Given the description of an element on the screen output the (x, y) to click on. 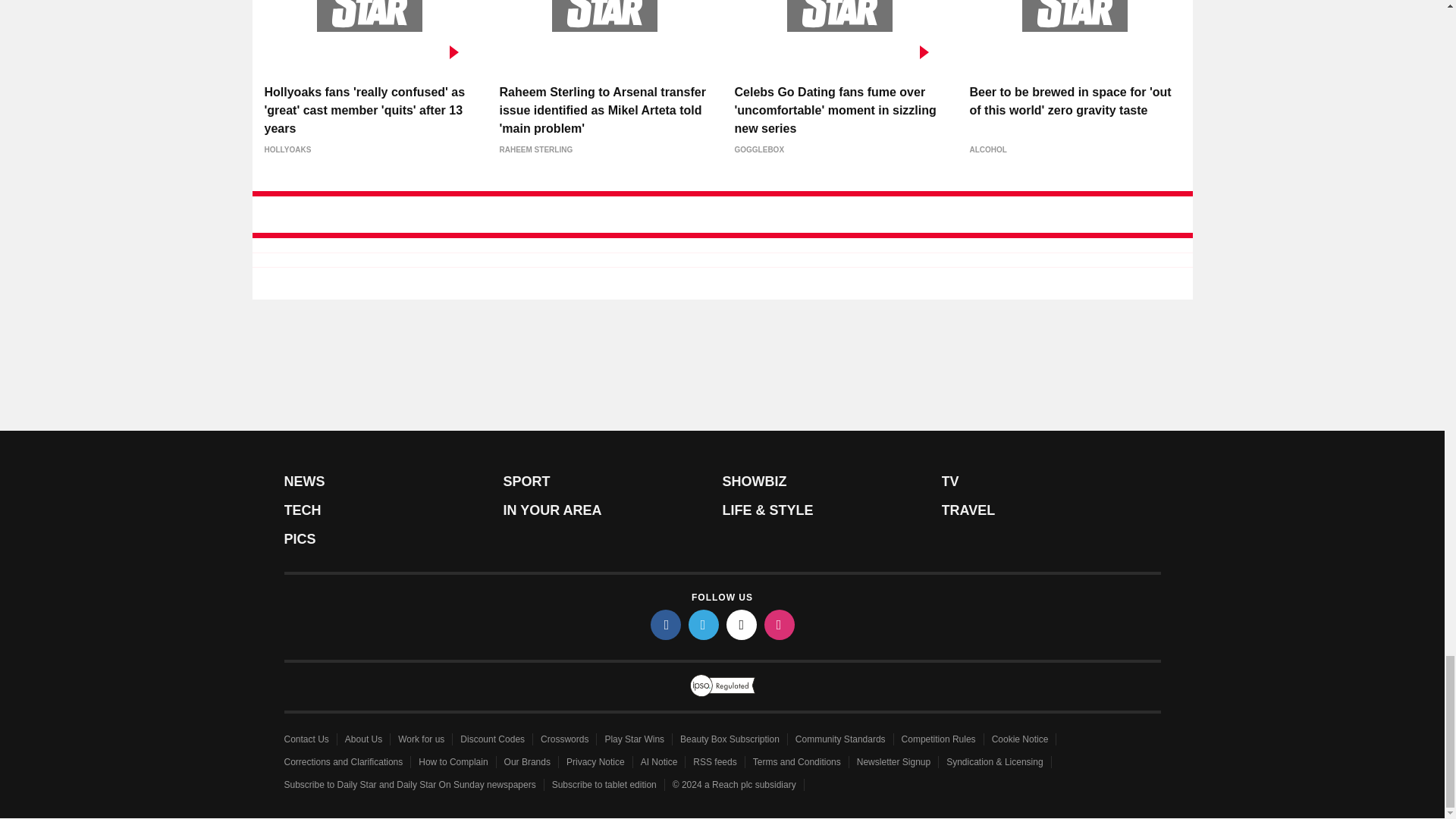
tiktok (741, 624)
twitter (703, 624)
instagram (779, 624)
facebook (665, 624)
